Given the description of an element on the screen output the (x, y) to click on. 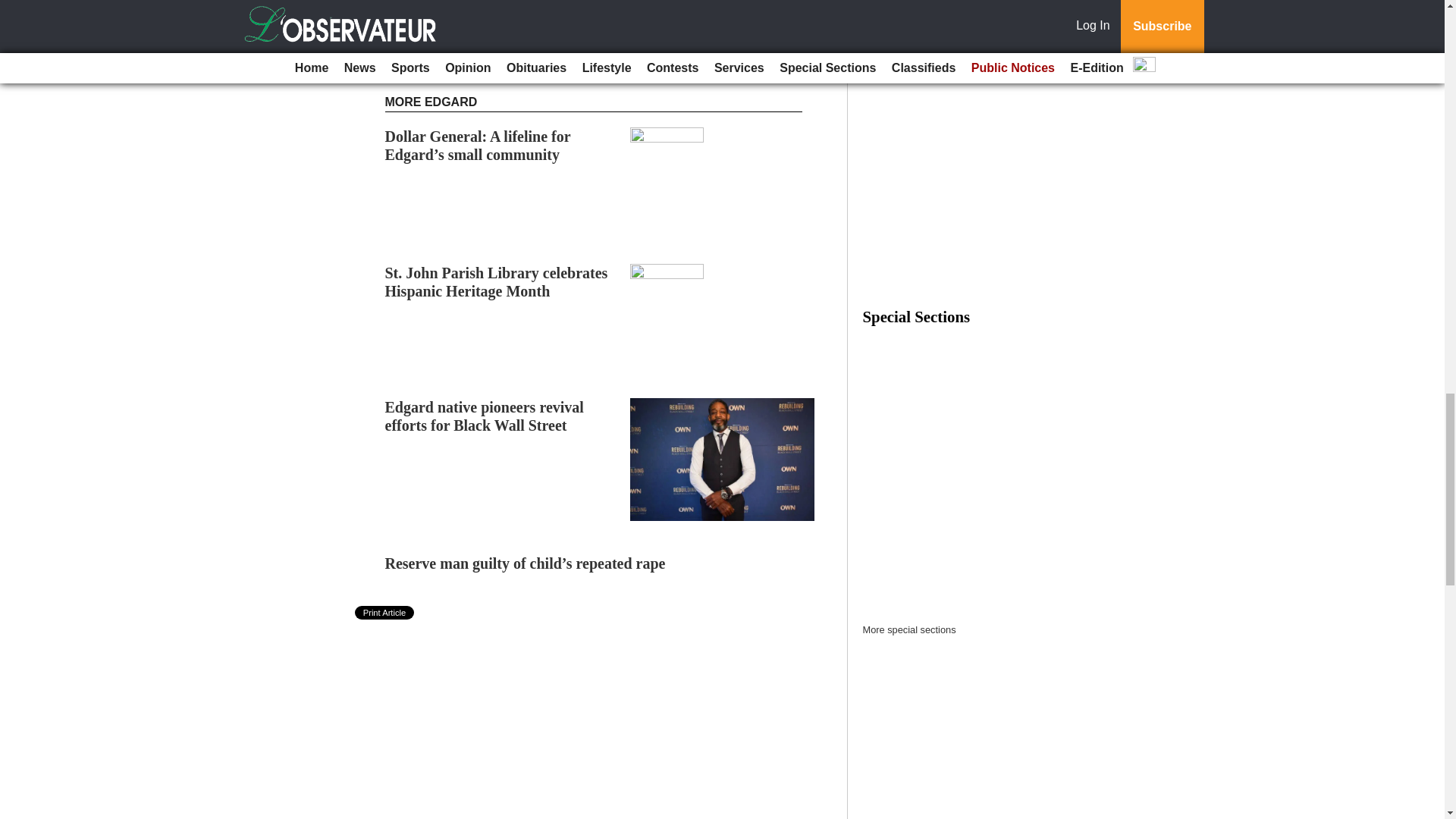
Edgard native pioneers revival efforts for Black Wall Street (484, 416)
Print Article (384, 612)
Edgard native pioneers revival efforts for Black Wall Street (484, 416)
St. John Parish Library celebrates Hispanic Heritage Month (496, 281)
St. John Parish Library celebrates Hispanic Heritage Month (496, 281)
